Given the description of an element on the screen output the (x, y) to click on. 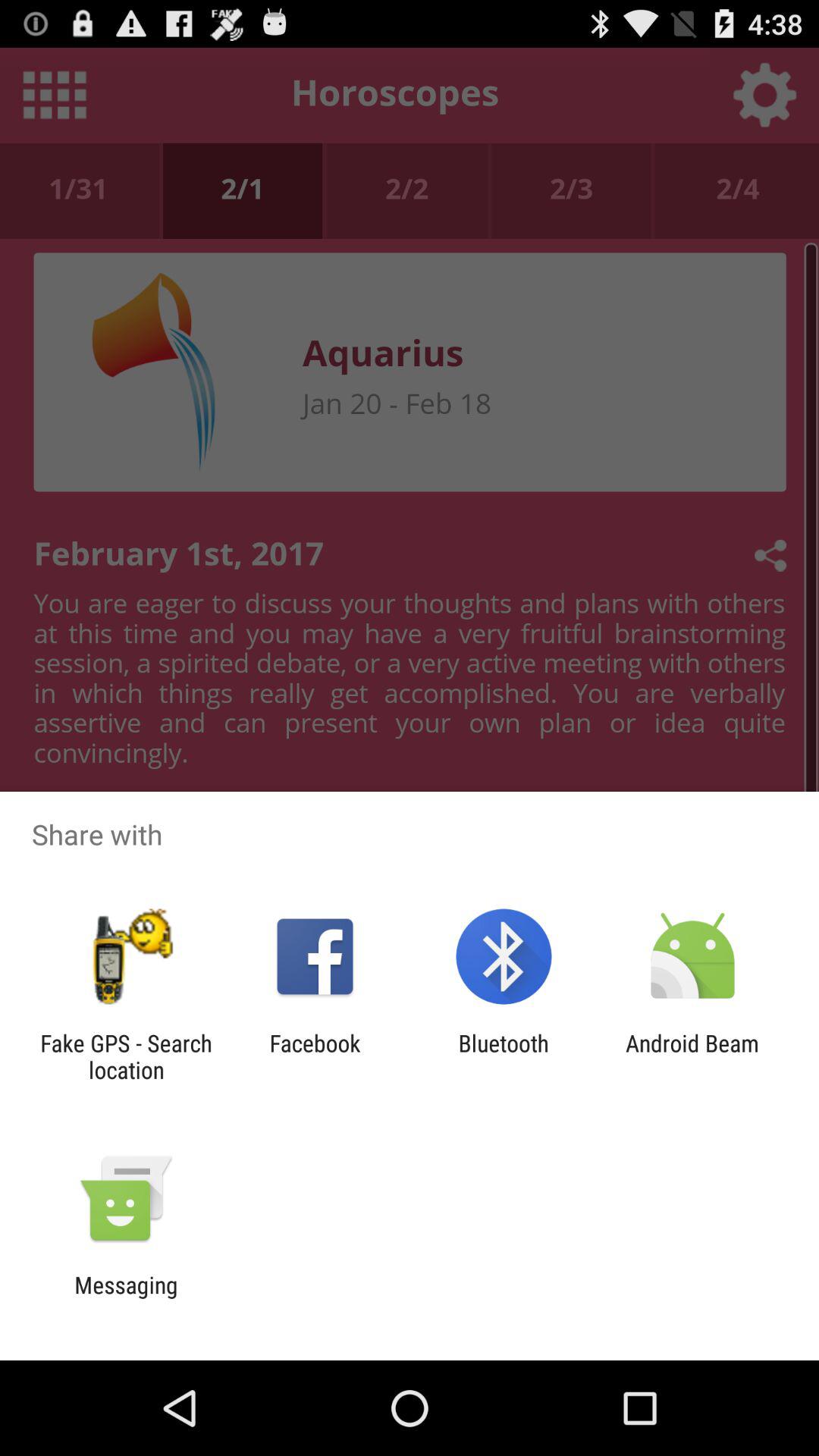
turn off icon to the right of the bluetooth app (692, 1056)
